Given the description of an element on the screen output the (x, y) to click on. 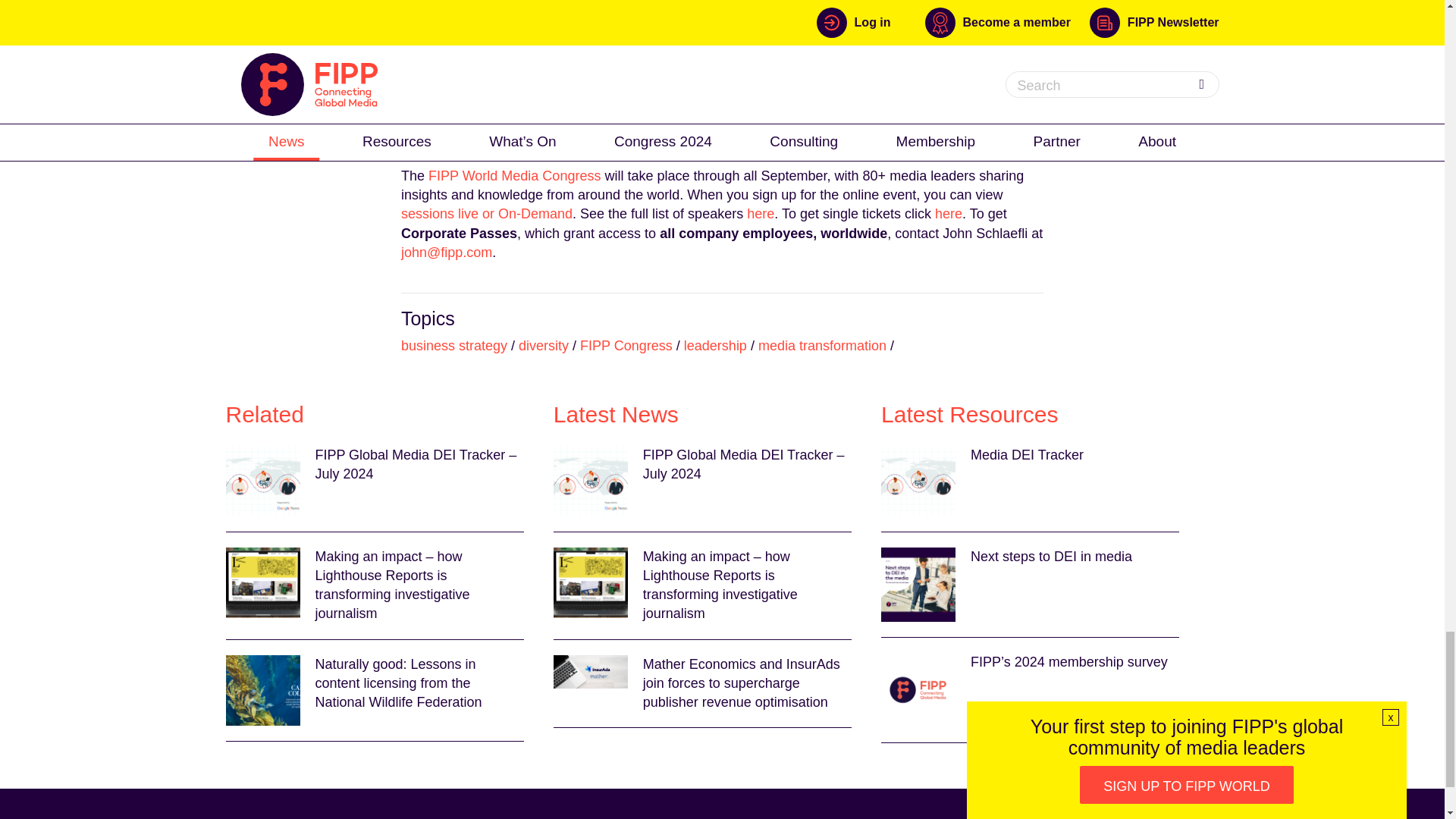
here (760, 213)
here (948, 213)
business strategy (453, 345)
sessions live or On-Demand (486, 213)
diversity (543, 345)
FIPP World Media Congress (516, 175)
virtual events (892, 61)
